Given the description of an element on the screen output the (x, y) to click on. 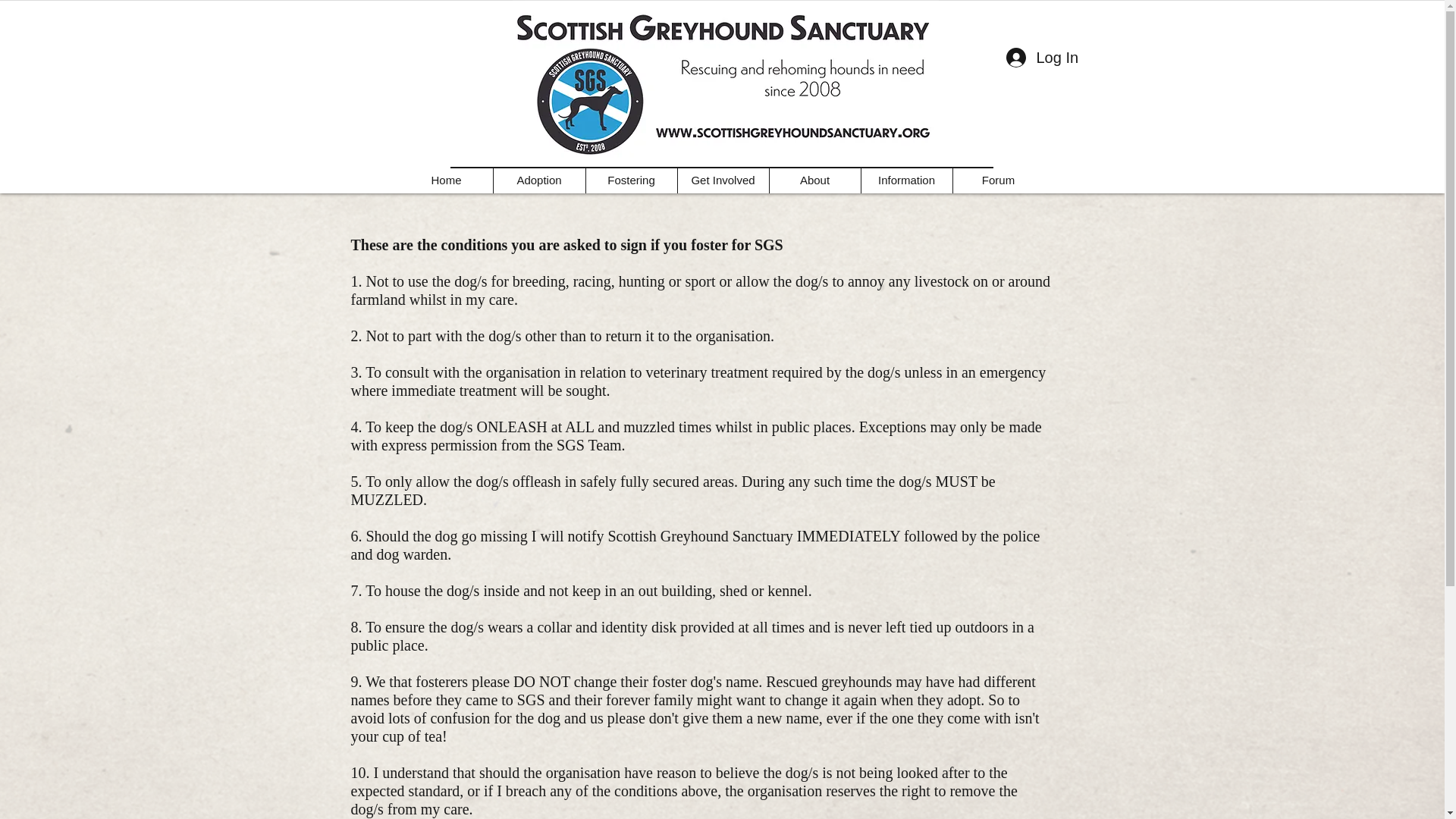
Log In (1040, 57)
Information (906, 180)
Fostering (631, 180)
About (814, 180)
Get Involved (723, 180)
Forum (997, 180)
Adoption (539, 180)
Home (446, 180)
